Given the description of an element on the screen output the (x, y) to click on. 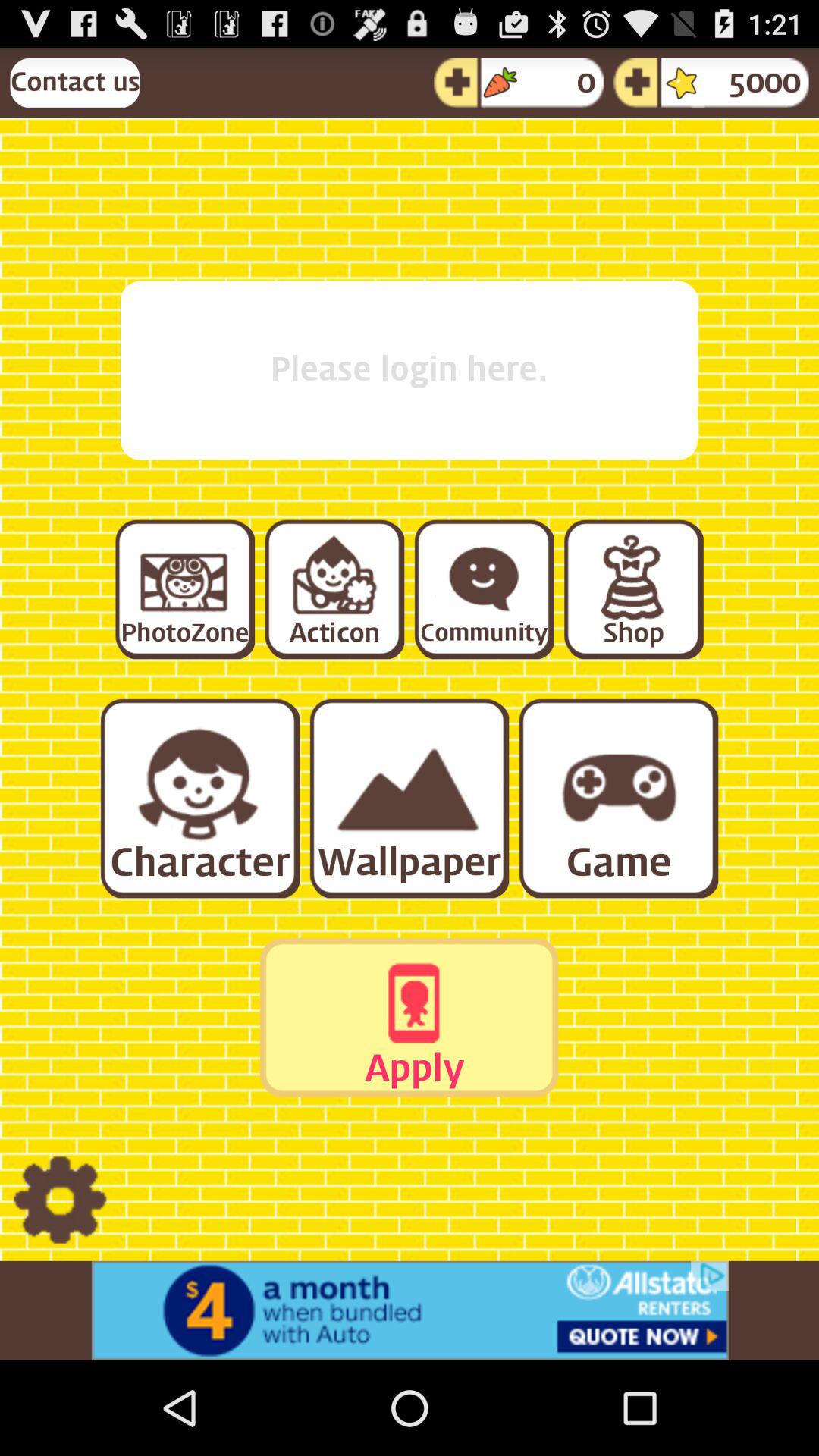
go to action (333, 588)
